Given the description of an element on the screen output the (x, y) to click on. 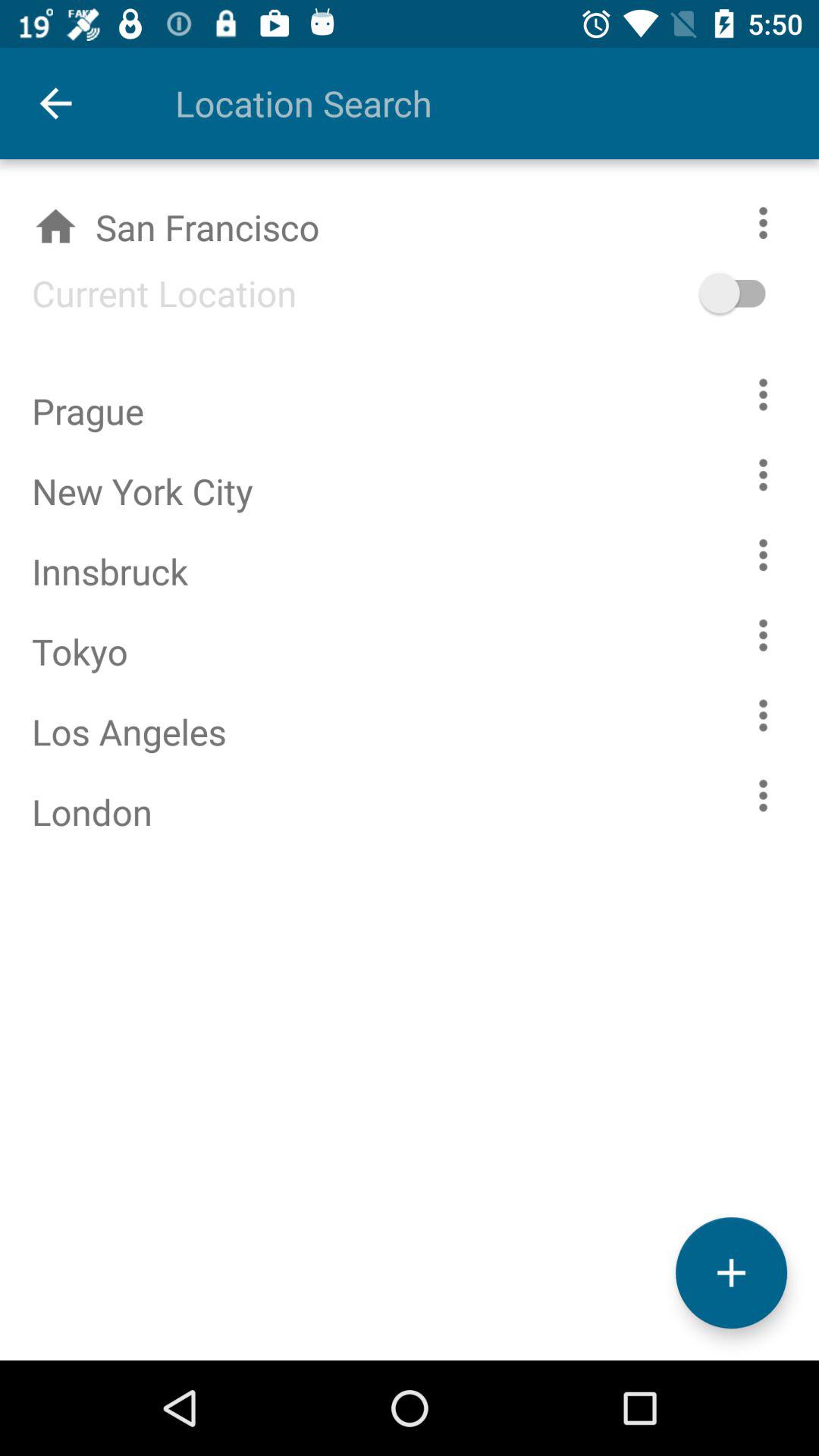
select london (763, 795)
